Given the description of an element on the screen output the (x, y) to click on. 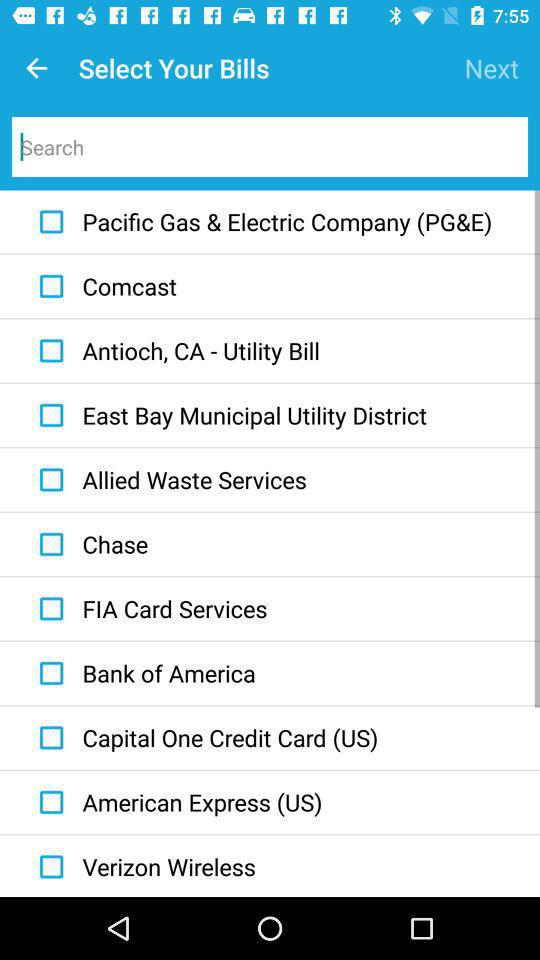
flip until the bank of america item (142, 673)
